Given the description of an element on the screen output the (x, y) to click on. 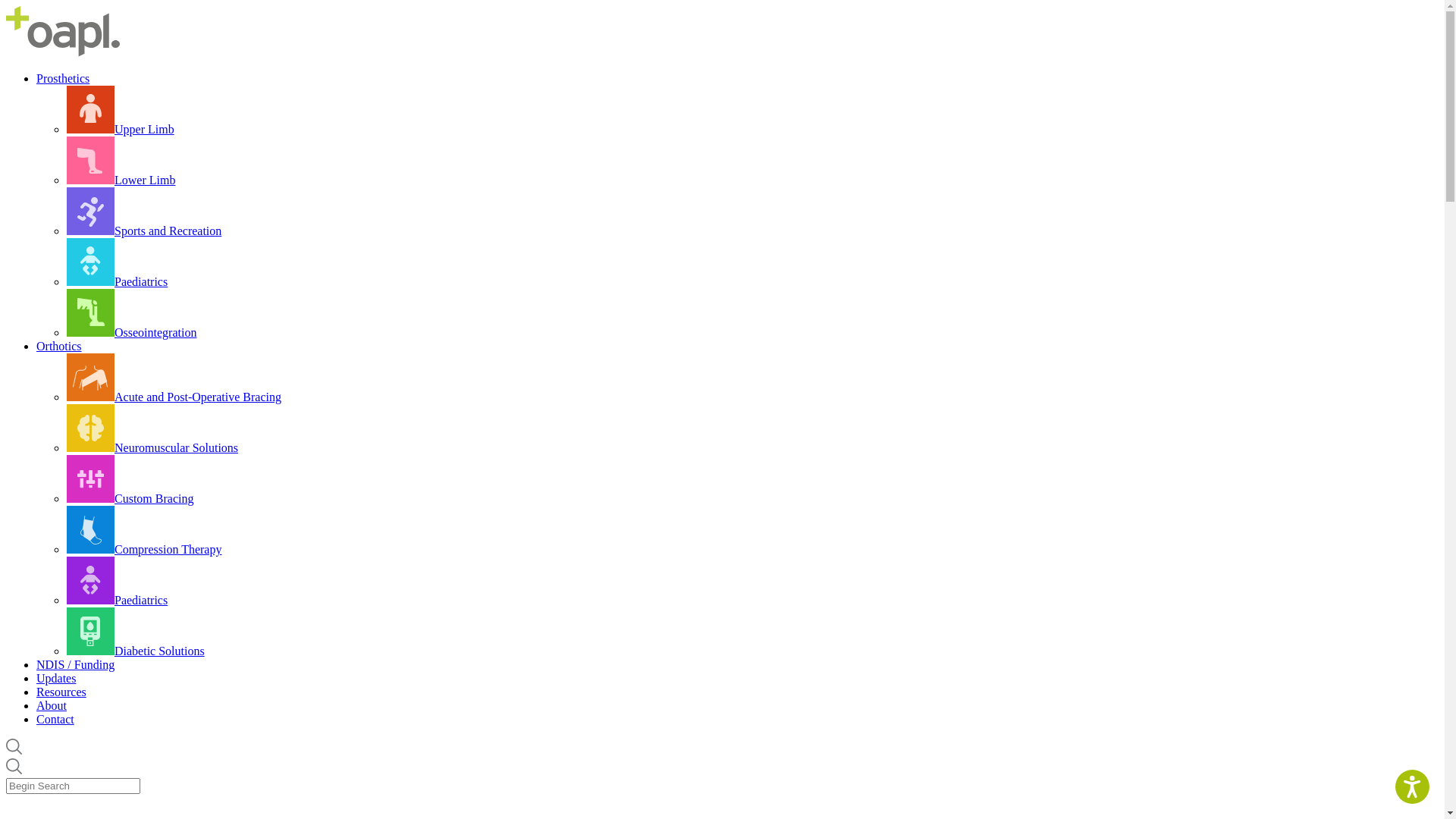
Orthotics Element type: text (58, 345)
About Element type: text (51, 705)
Sports and Recreation Element type: text (143, 230)
Custom Bracing Element type: text (129, 498)
Contact Element type: text (55, 718)
Diabetic Solutions Element type: text (135, 650)
Acute and Post-Operative Bracing Element type: text (173, 396)
Osseointegration Element type: text (131, 332)
NDIS / Funding Element type: text (75, 664)
Paediatrics Element type: text (116, 281)
Lower Limb Element type: text (120, 179)
Upper Limb Element type: text (120, 128)
Neuromuscular Solutions Element type: text (152, 447)
Updates Element type: text (55, 677)
Resources Element type: text (61, 691)
Prosthetics Element type: text (62, 78)
Paediatrics Element type: text (116, 599)
Compression Therapy Element type: text (143, 548)
